Given the description of an element on the screen output the (x, y) to click on. 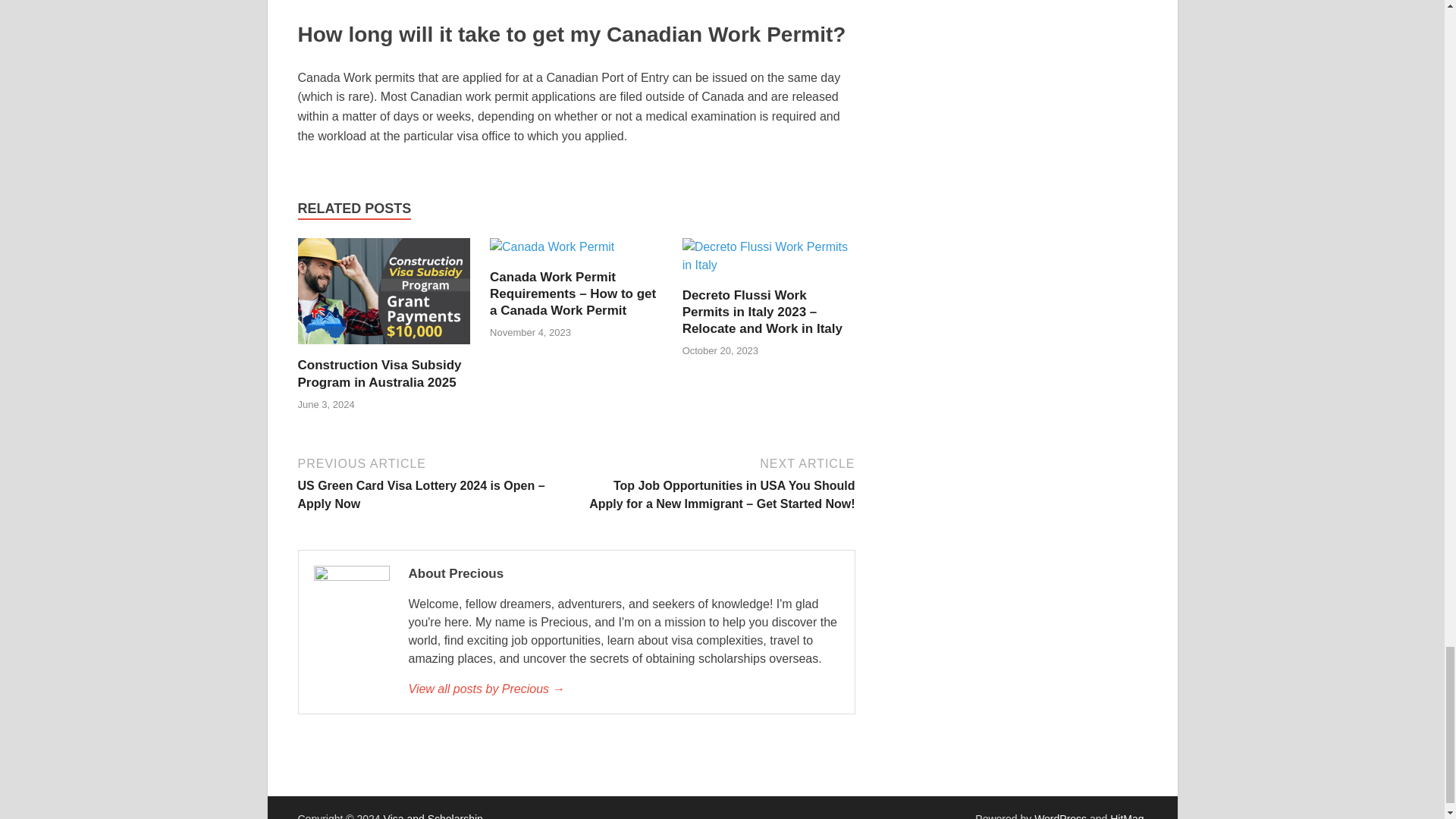
Construction Visa Subsidy Program in Australia 2025 (379, 373)
Construction Visa Subsidy Program in Australia 2025 (383, 296)
Construction Visa Subsidy Program in Australia 2025 (379, 373)
Precious (622, 689)
